Given the description of an element on the screen output the (x, y) to click on. 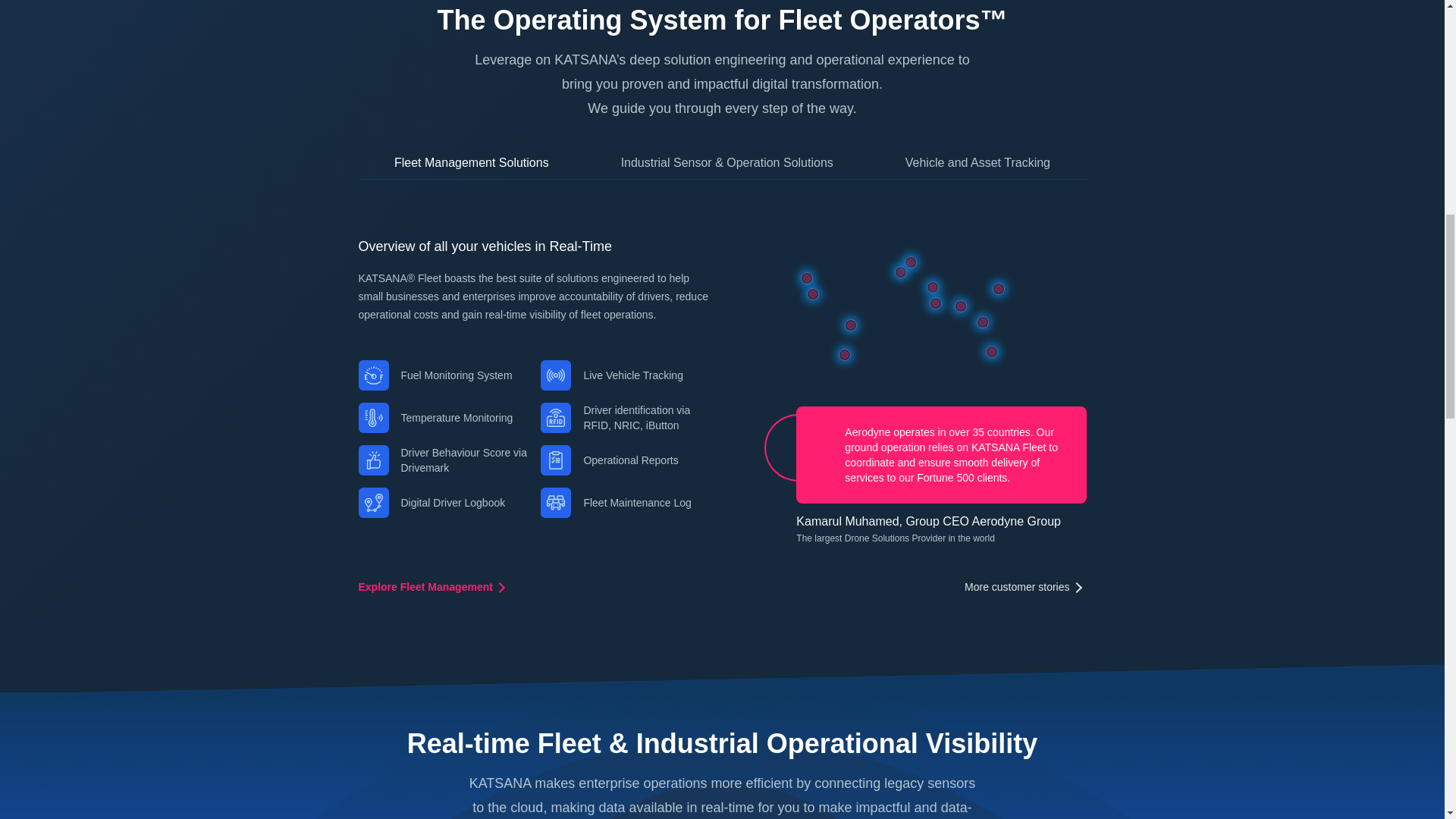
Explore Fleet Management (433, 587)
More customer stories (1024, 587)
